Given the description of an element on the screen output the (x, y) to click on. 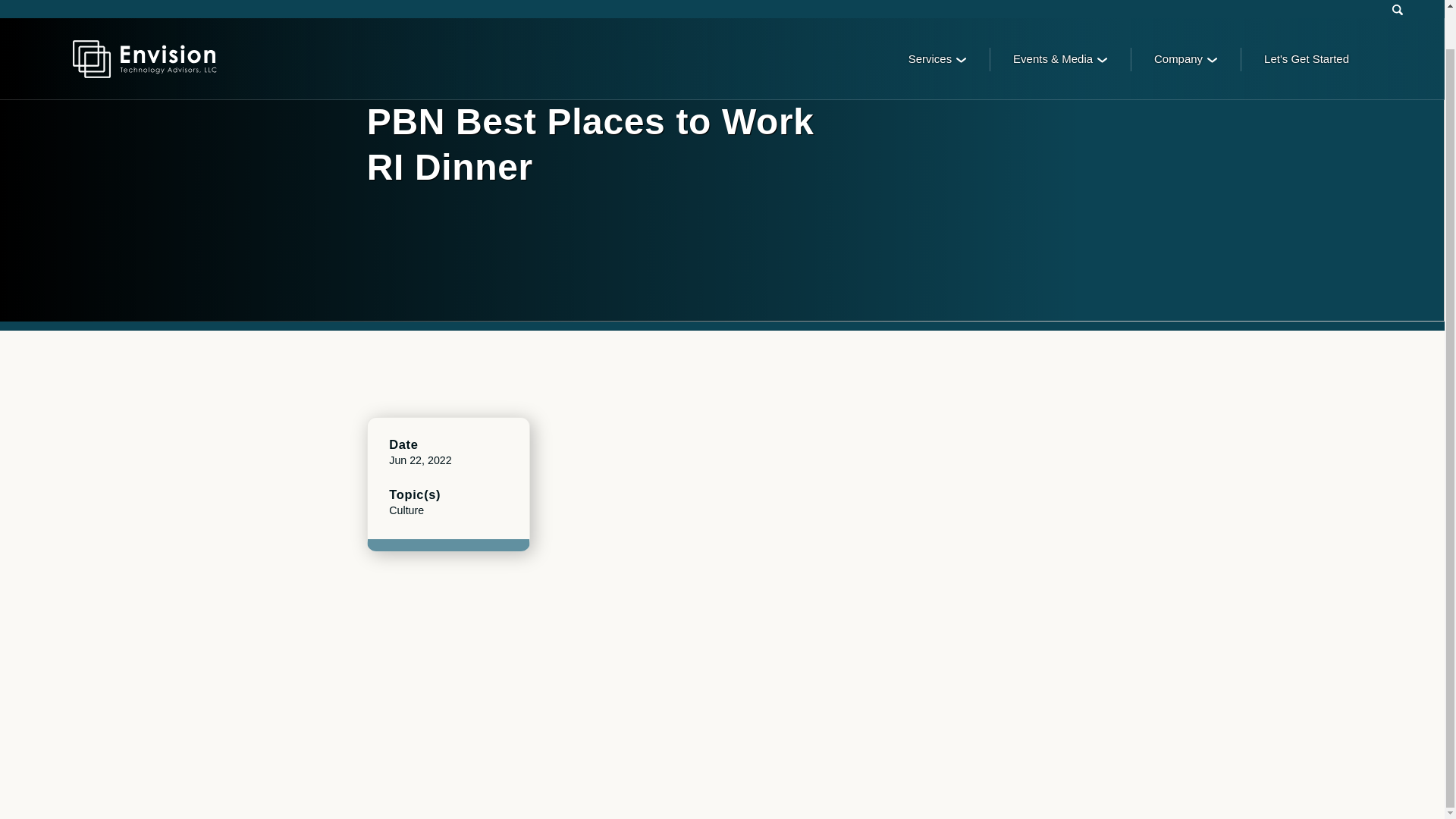
Services (937, 18)
Company (1185, 18)
